Given the description of an element on the screen output the (x, y) to click on. 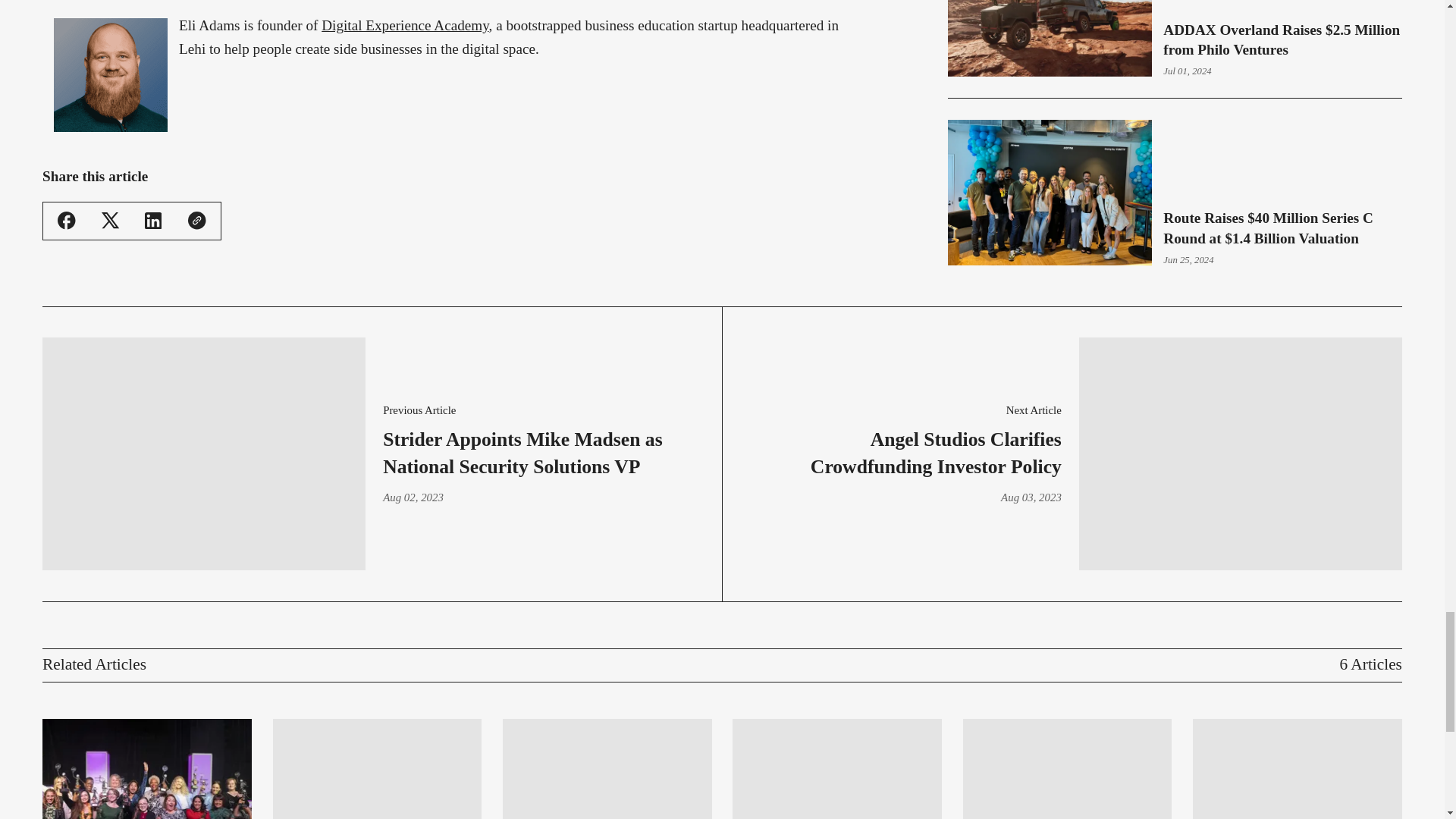
Digital Experience Academy (404, 25)
